Given the description of an element on the screen output the (x, y) to click on. 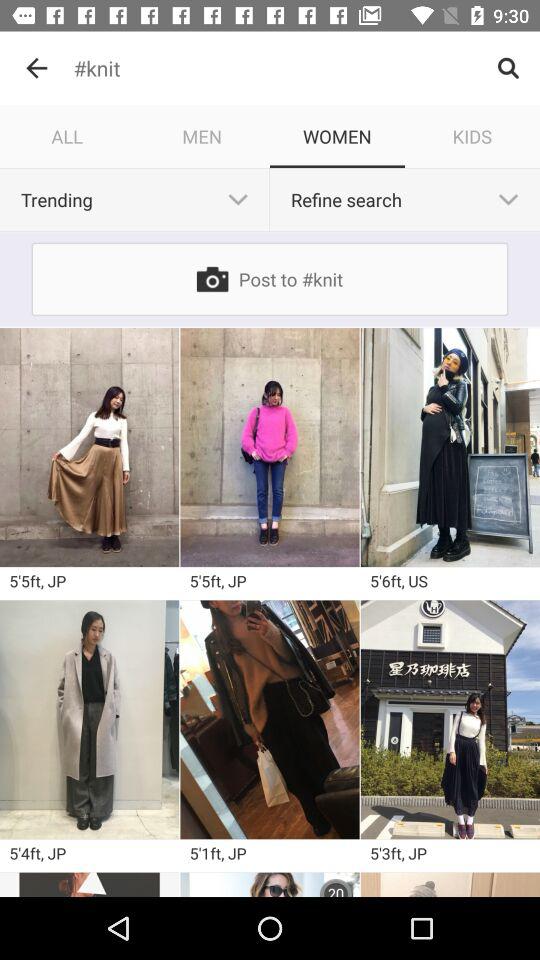
swipe to the men item (202, 136)
